Given the description of an element on the screen output the (x, y) to click on. 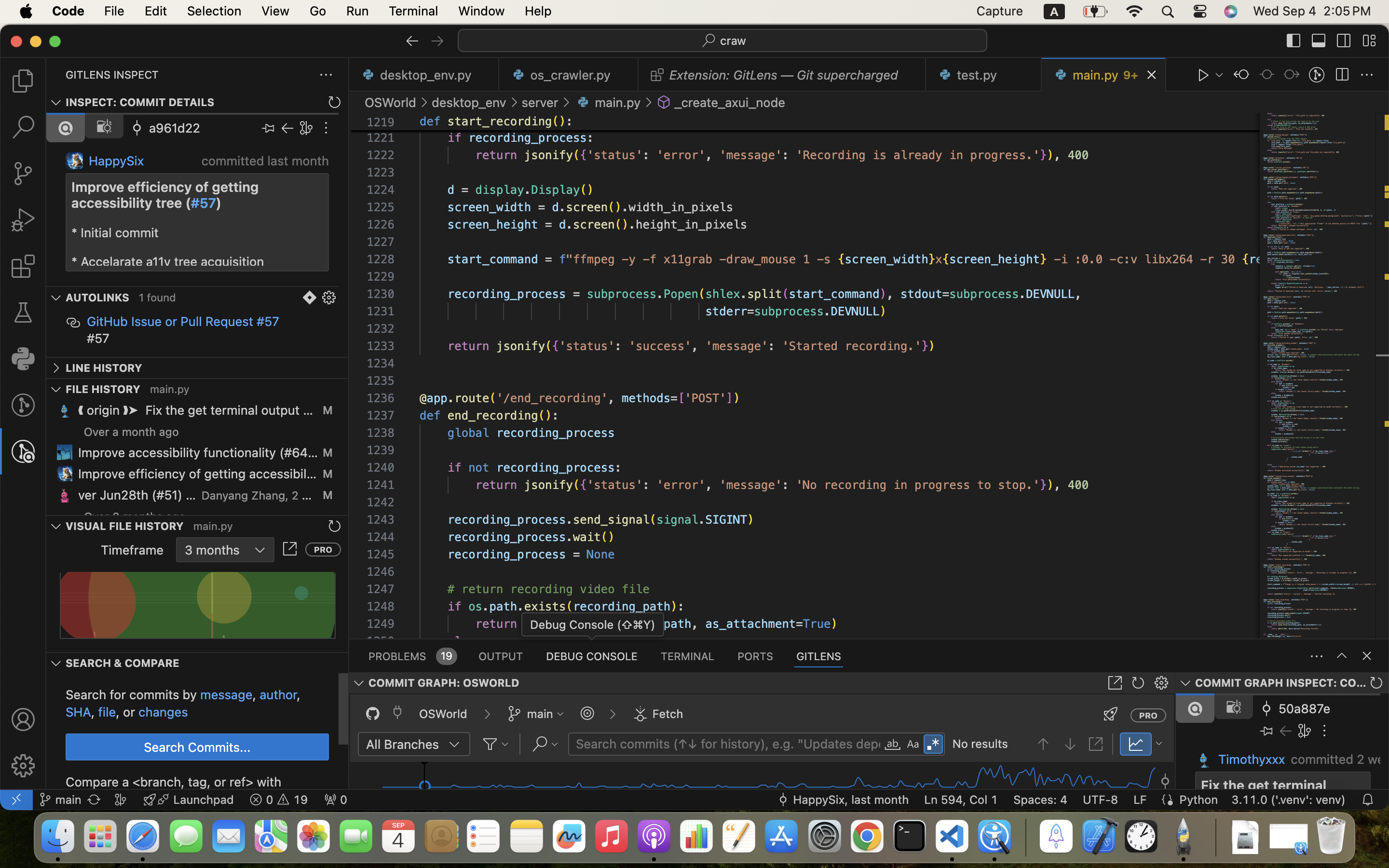
 Element type: AXGroup (23, 765)
committed Element type: AXStaticText (232, 160)
 Element type: AXButton (412, 40)
LINE HISTORY Element type: AXStaticText (103, 367)
 Element type: AXGroup (1164, 774)
